Given the description of an element on the screen output the (x, y) to click on. 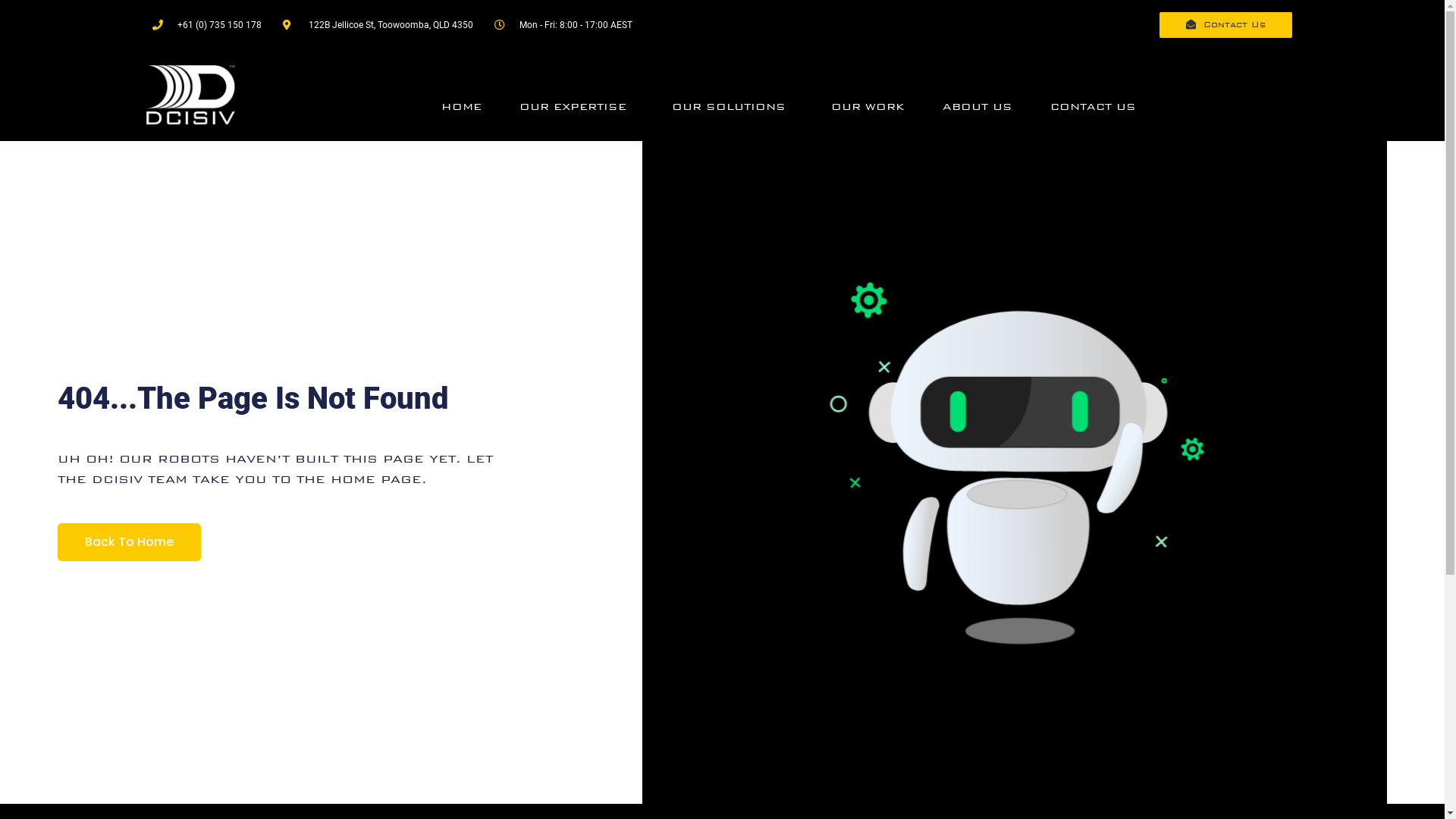
+61 (0) 735 150 178 Element type: text (206, 24)
Back To Home Element type: text (128, 542)
Contact Us Element type: text (1225, 24)
HOME Element type: text (461, 106)
ABOUT US Element type: text (977, 106)
OUR EXPERTISE Element type: text (576, 106)
OUR SOLUTIONS Element type: text (732, 106)
CONTACT US Element type: text (1092, 106)
122B Jellicoe St, Toowoomba, QLD 4350 Element type: text (377, 24)
OUR WORK Element type: text (867, 106)
